Given the description of an element on the screen output the (x, y) to click on. 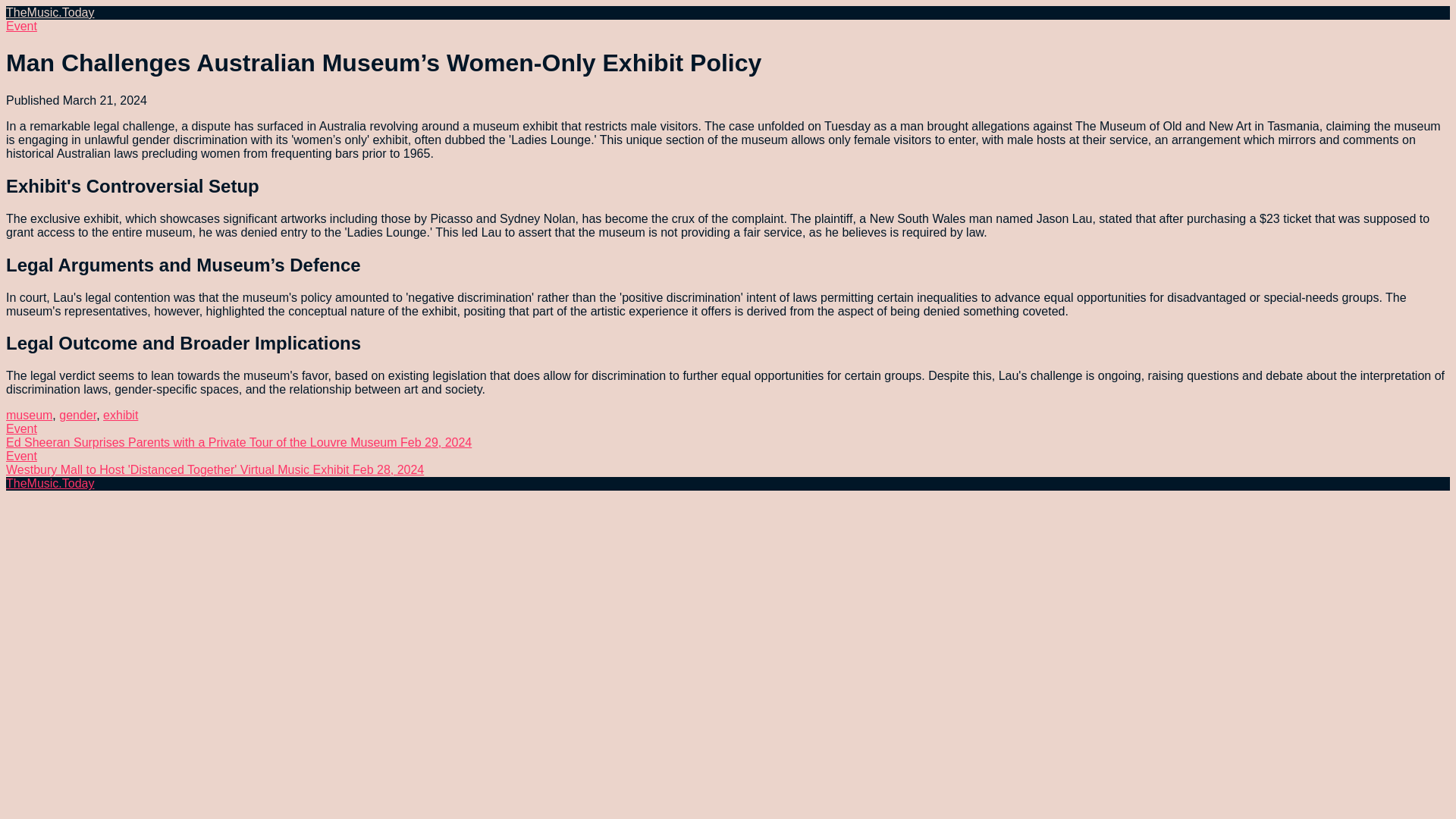
Event (21, 25)
TheMusic.Today (49, 11)
exhibit (120, 414)
gender (77, 414)
museum (28, 414)
